Given the description of an element on the screen output the (x, y) to click on. 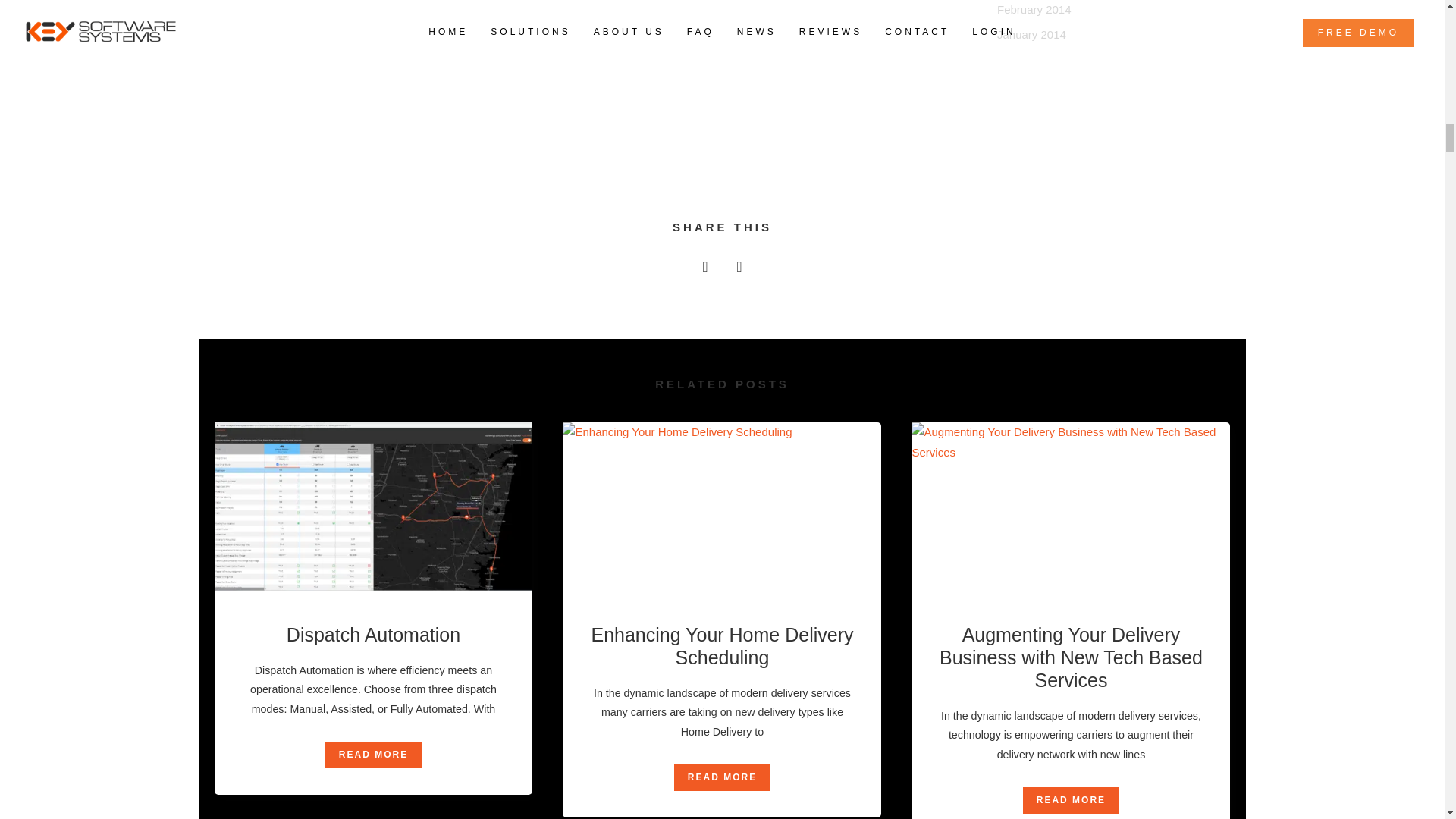
facebook (705, 270)
twitter (738, 270)
